Given the description of an element on the screen output the (x, y) to click on. 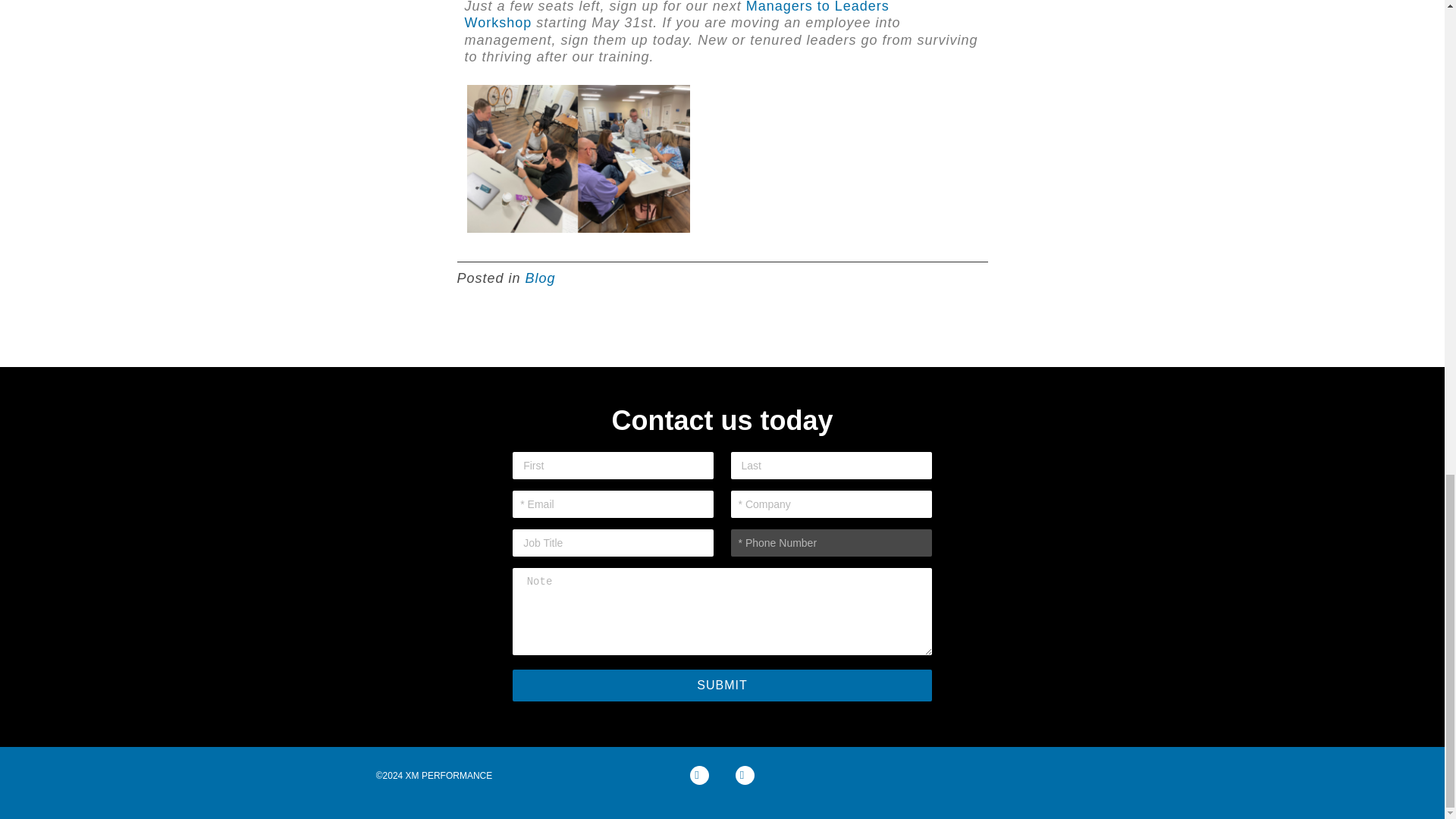
Last (830, 465)
Blog (540, 278)
First (612, 465)
SUBMIT (721, 685)
Managers to Leaders Workshop (676, 15)
